Given the description of an element on the screen output the (x, y) to click on. 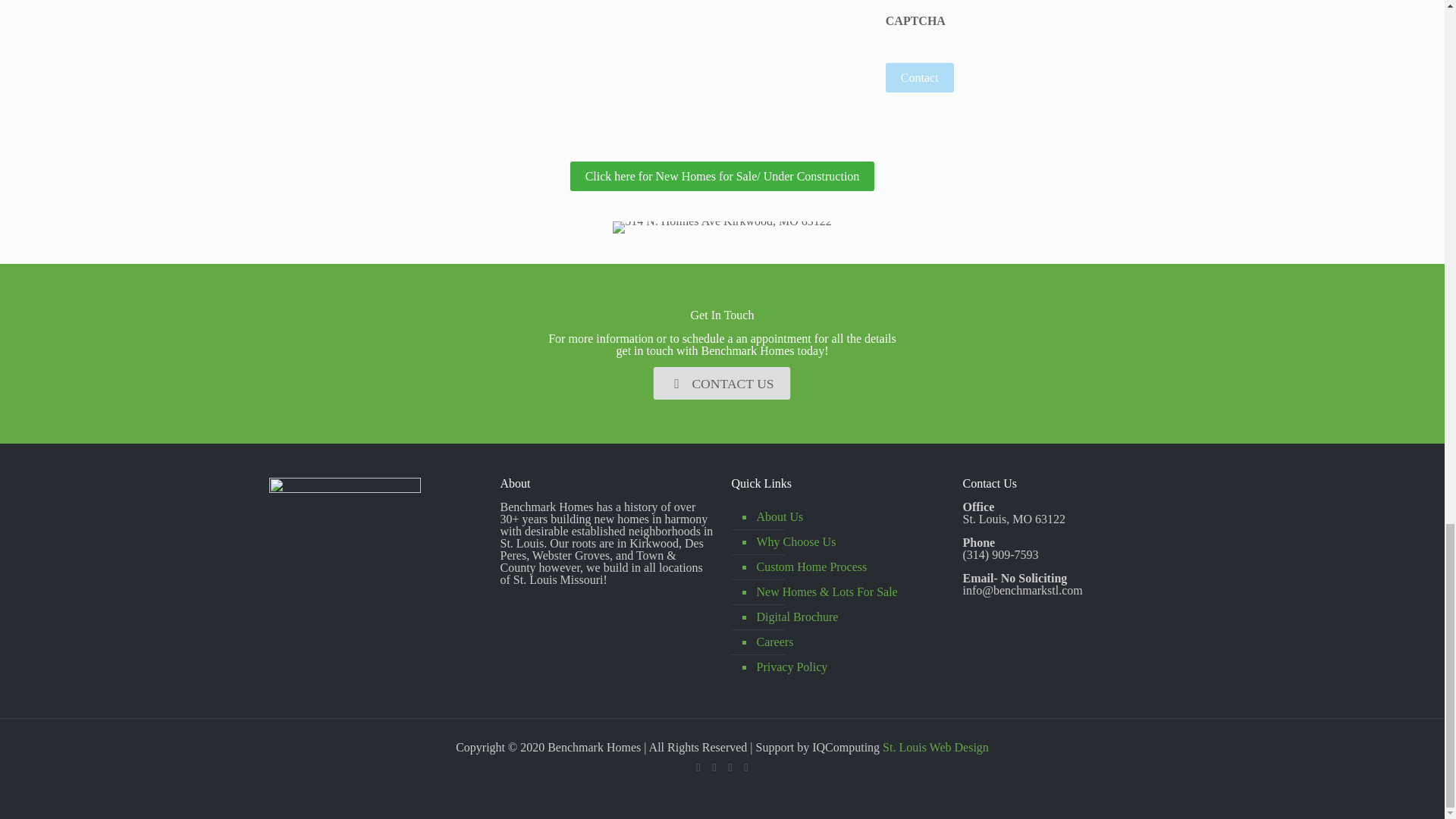
Contact (919, 77)
Facebook (698, 767)
YouTube (730, 767)
Vimeo (713, 767)
Instagram (745, 767)
